Given the description of an element on the screen output the (x, y) to click on. 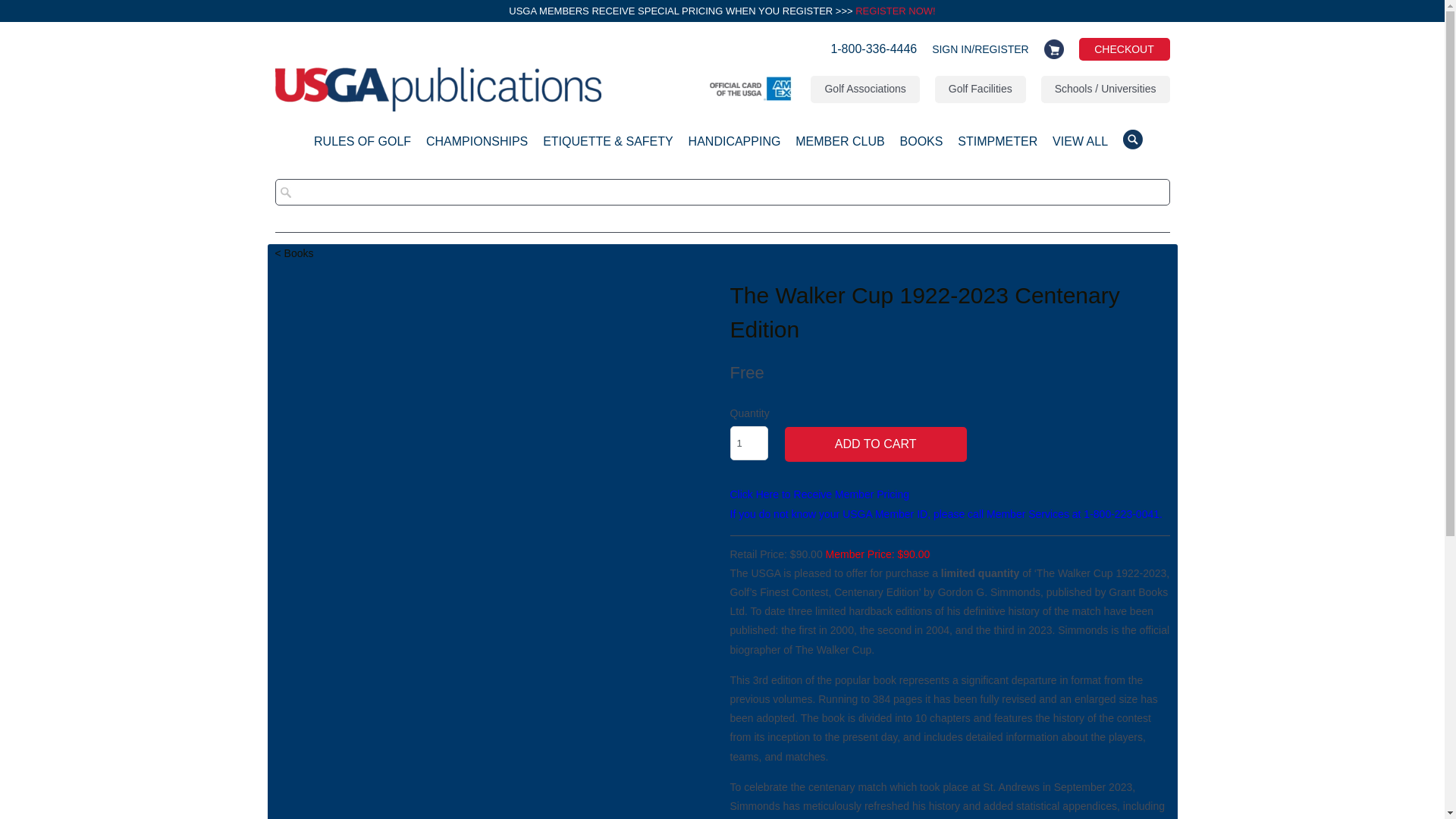
MEMBER CLUB (838, 145)
Books (294, 253)
CHAMPIONSHIPS (476, 145)
VIEW ALL (1080, 145)
STIMPMETER (997, 145)
REGISTER NOW! (895, 10)
Golf Facilities (980, 89)
1 (748, 442)
BOOKS (921, 145)
Click Here to Receive Member Pricing (818, 494)
Golf Facilities (980, 89)
1-800-336-4446 (873, 52)
HANDICAPPING (734, 145)
USGA Publications (437, 92)
Golf Associations (864, 89)
